Given the description of an element on the screen output the (x, y) to click on. 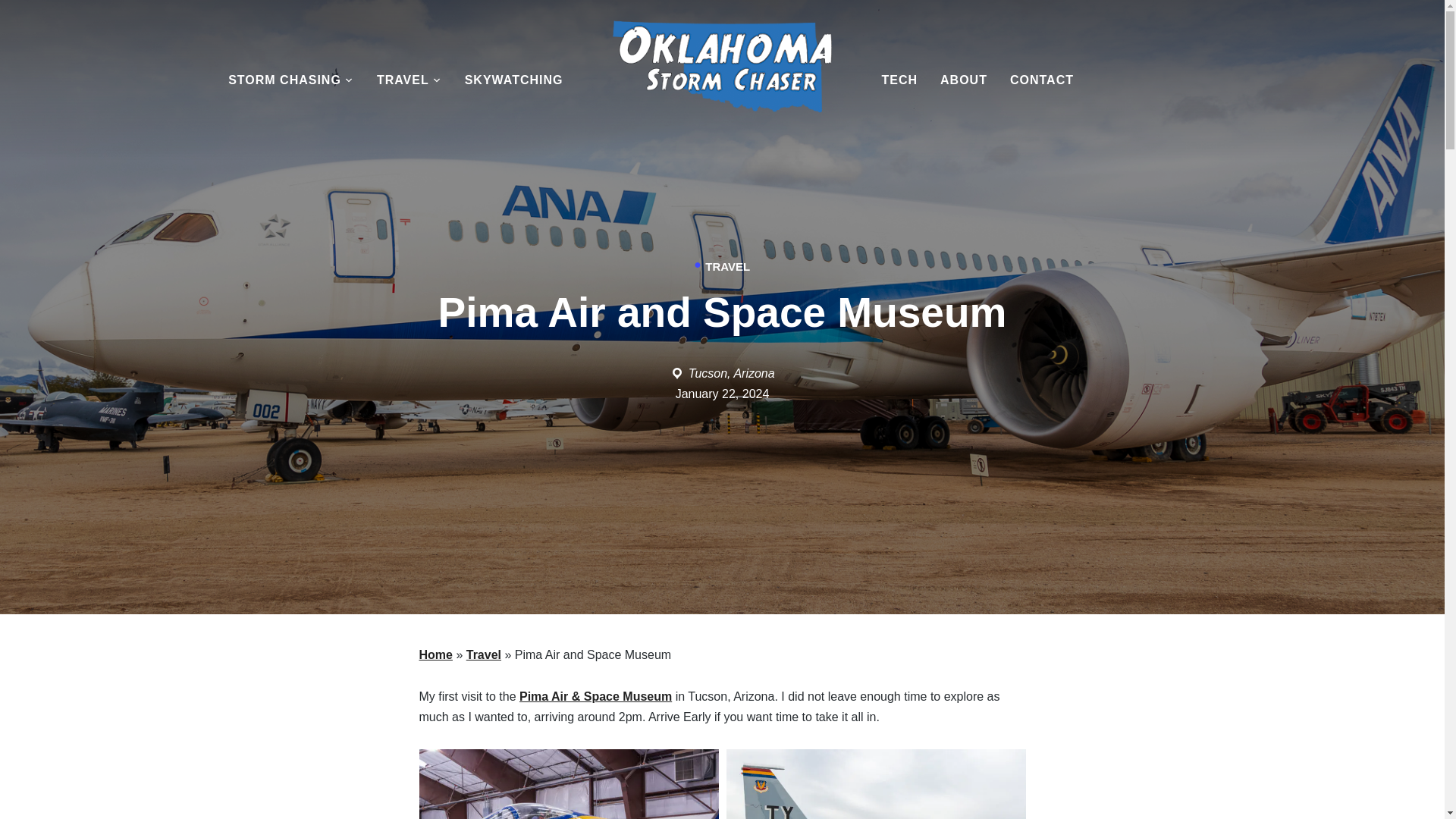
TRAVEL (409, 80)
Oklahoma Storm Chaser Ben Holcomb (722, 73)
ABOUT (963, 80)
Home (435, 654)
STORM CHASING (290, 80)
Grumman F-11 Tiger Blue Angels Plane (568, 784)
F-15 Eagle (876, 784)
TECH (898, 80)
SKYWATCHING (513, 80)
Travel (482, 654)
